Given the description of an element on the screen output the (x, y) to click on. 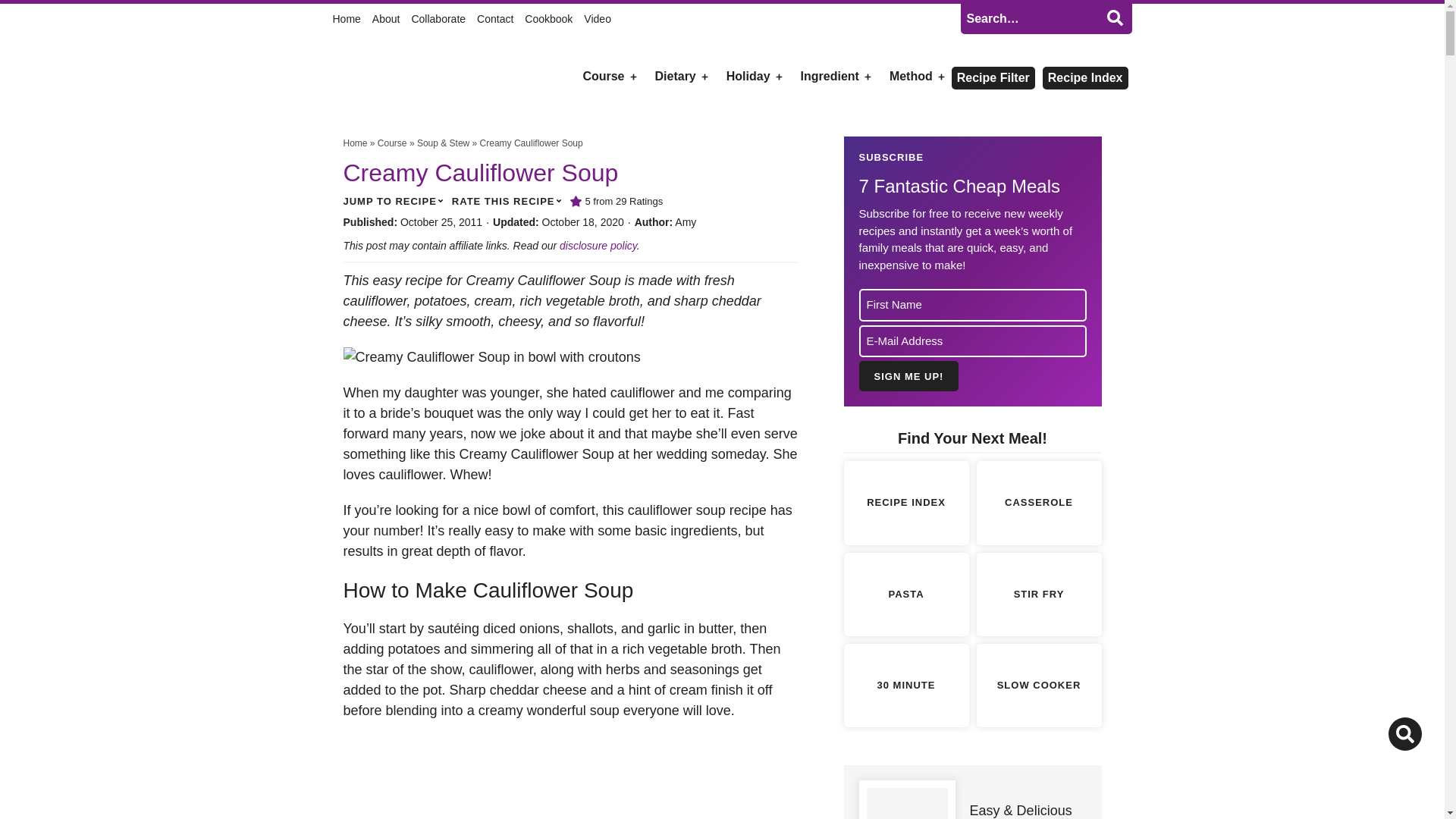
Home (339, 18)
Video (597, 18)
Search for (1045, 19)
Collaborate (437, 18)
Holiday (747, 76)
Cookbook (548, 18)
Dietary (674, 76)
About (386, 18)
Course (602, 76)
Sign Me Up! (908, 376)
